Given the description of an element on the screen output the (x, y) to click on. 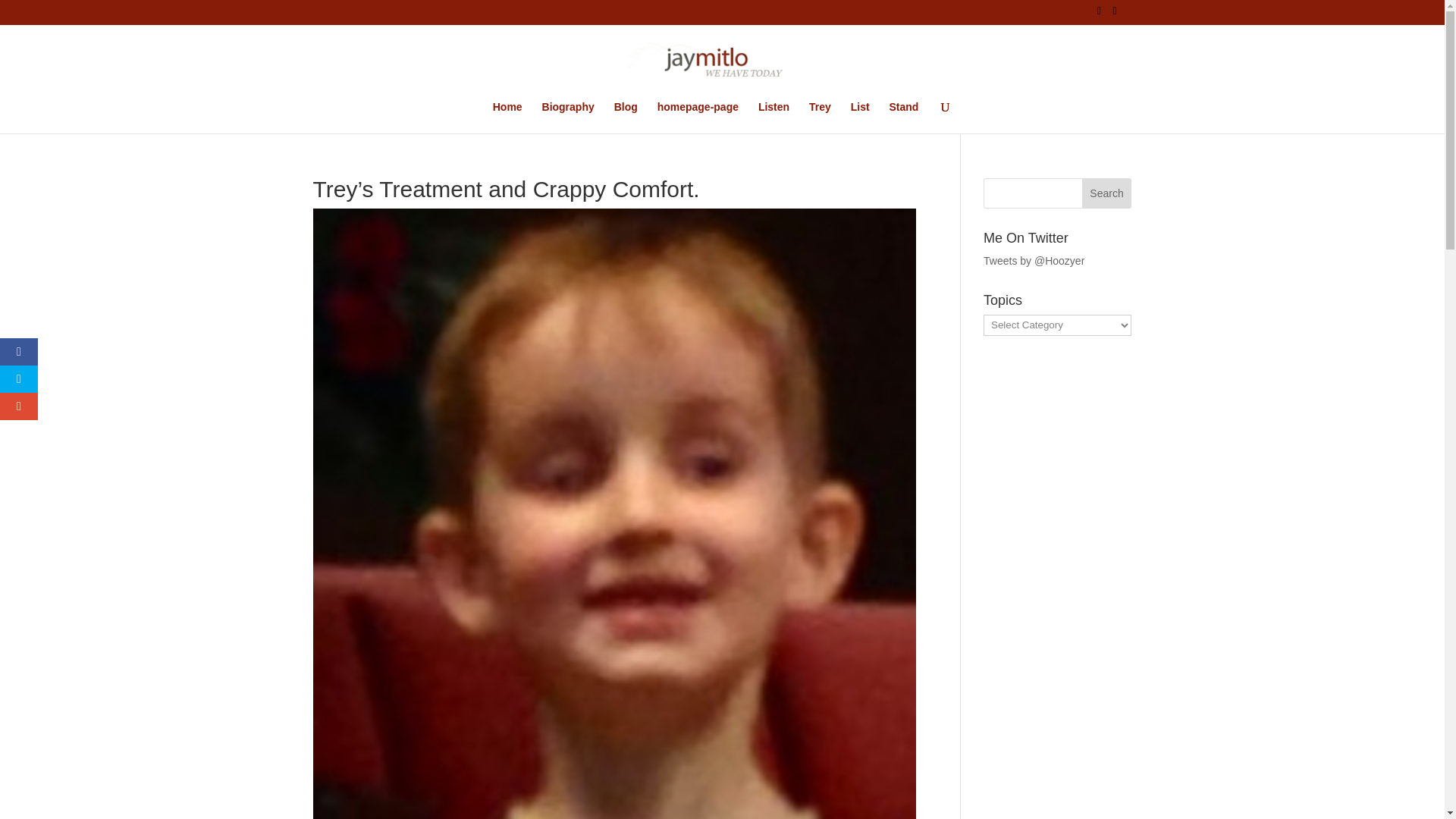
Listen (773, 117)
Stand (903, 117)
Search (1106, 193)
Home (507, 117)
Search (1106, 193)
Biography (567, 117)
homepage-page (698, 117)
